Given the description of an element on the screen output the (x, y) to click on. 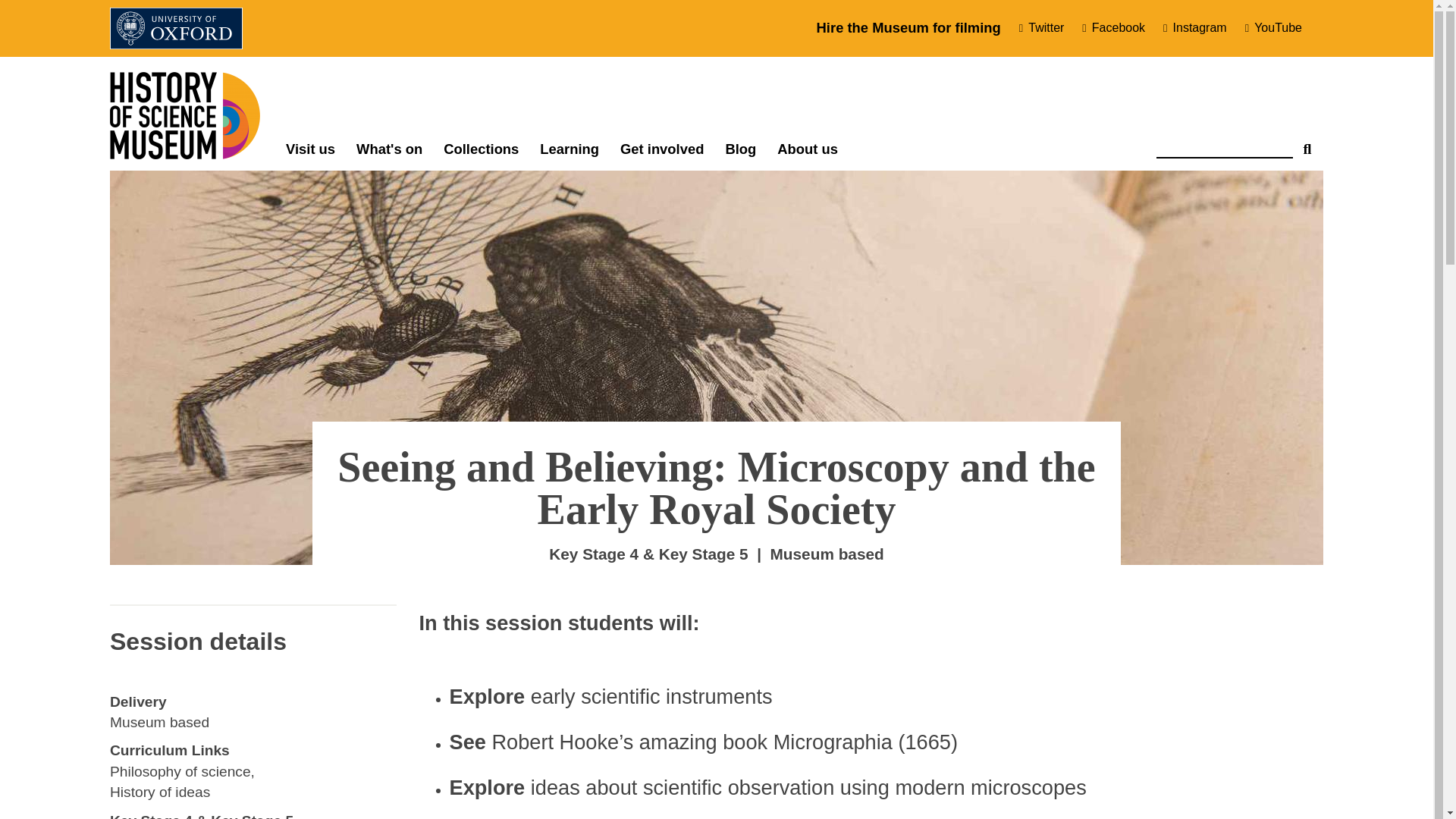
What's on (389, 148)
YouTube (1272, 28)
Enter the terms you wish to search for (1224, 142)
Instagram (1201, 28)
Visit us (310, 148)
Learning (569, 148)
Twitter (1048, 28)
Collections (480, 148)
Search (1307, 142)
Facebook (1119, 28)
